Given the description of an element on the screen output the (x, y) to click on. 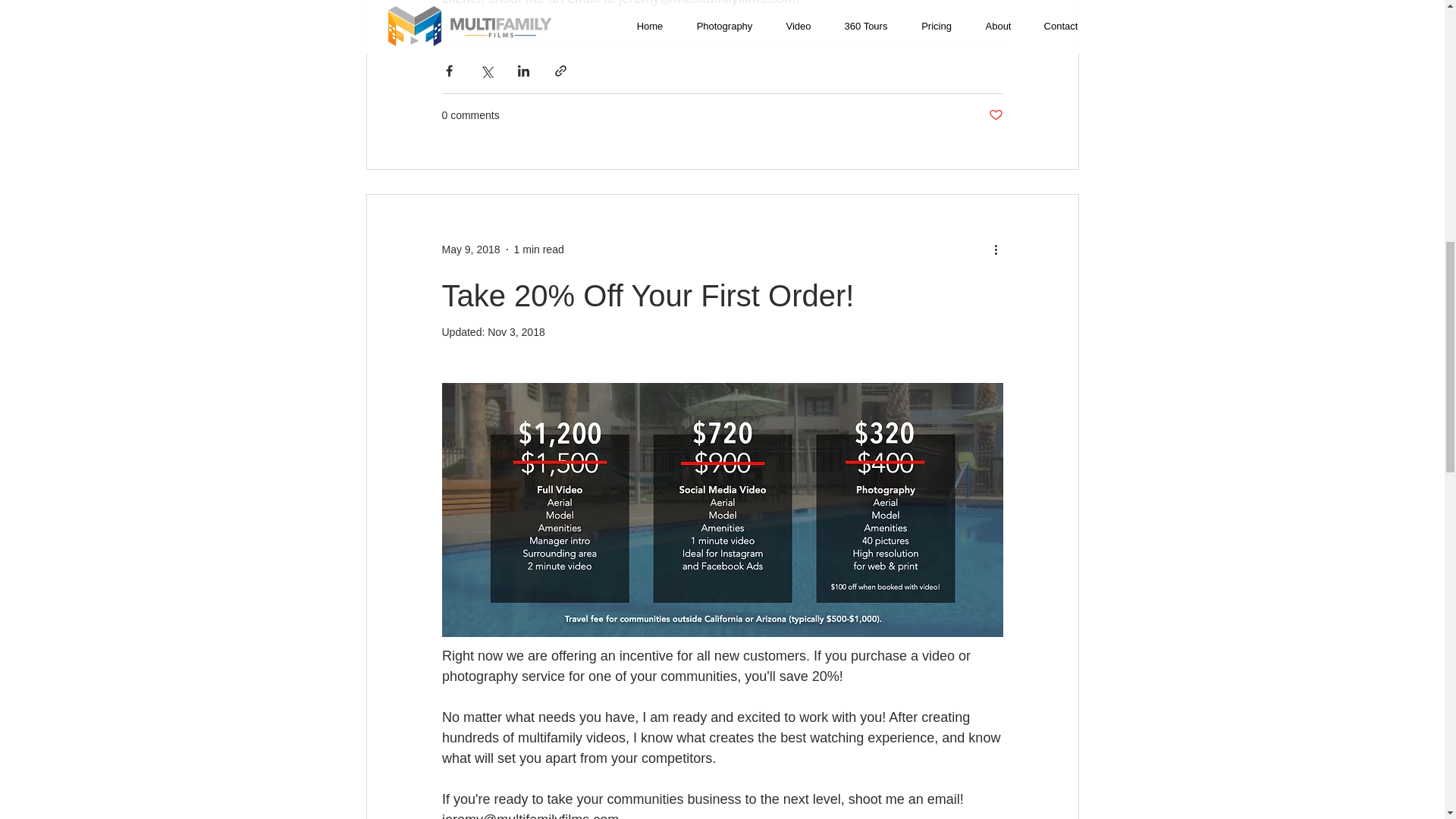
1 min read (538, 249)
Post not marked as liked (995, 115)
May 9, 2018 (470, 249)
0 comments (470, 115)
Nov 3, 2018 (515, 331)
